Given the description of an element on the screen output the (x, y) to click on. 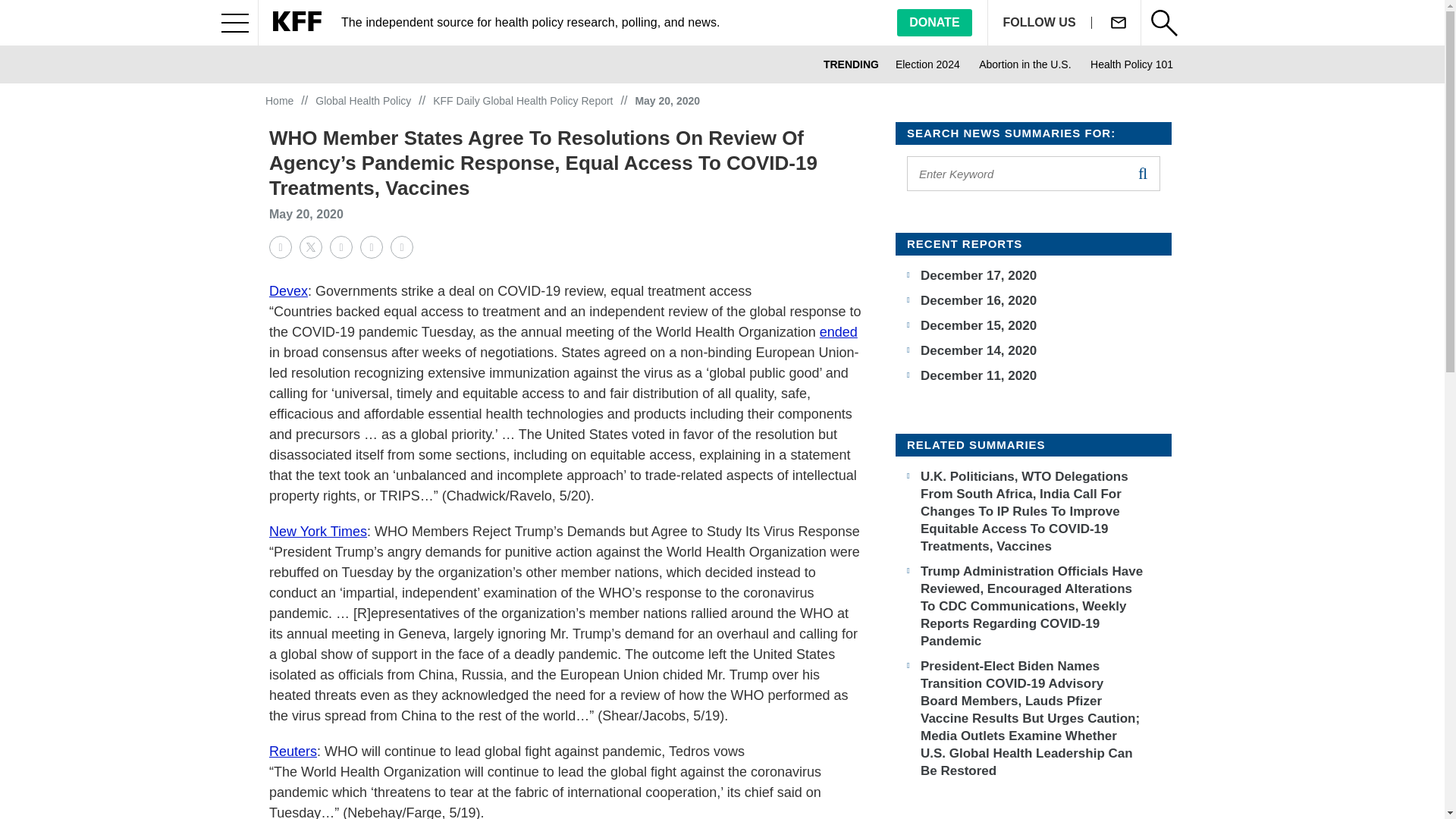
search (1141, 173)
